Given the description of an element on the screen output the (x, y) to click on. 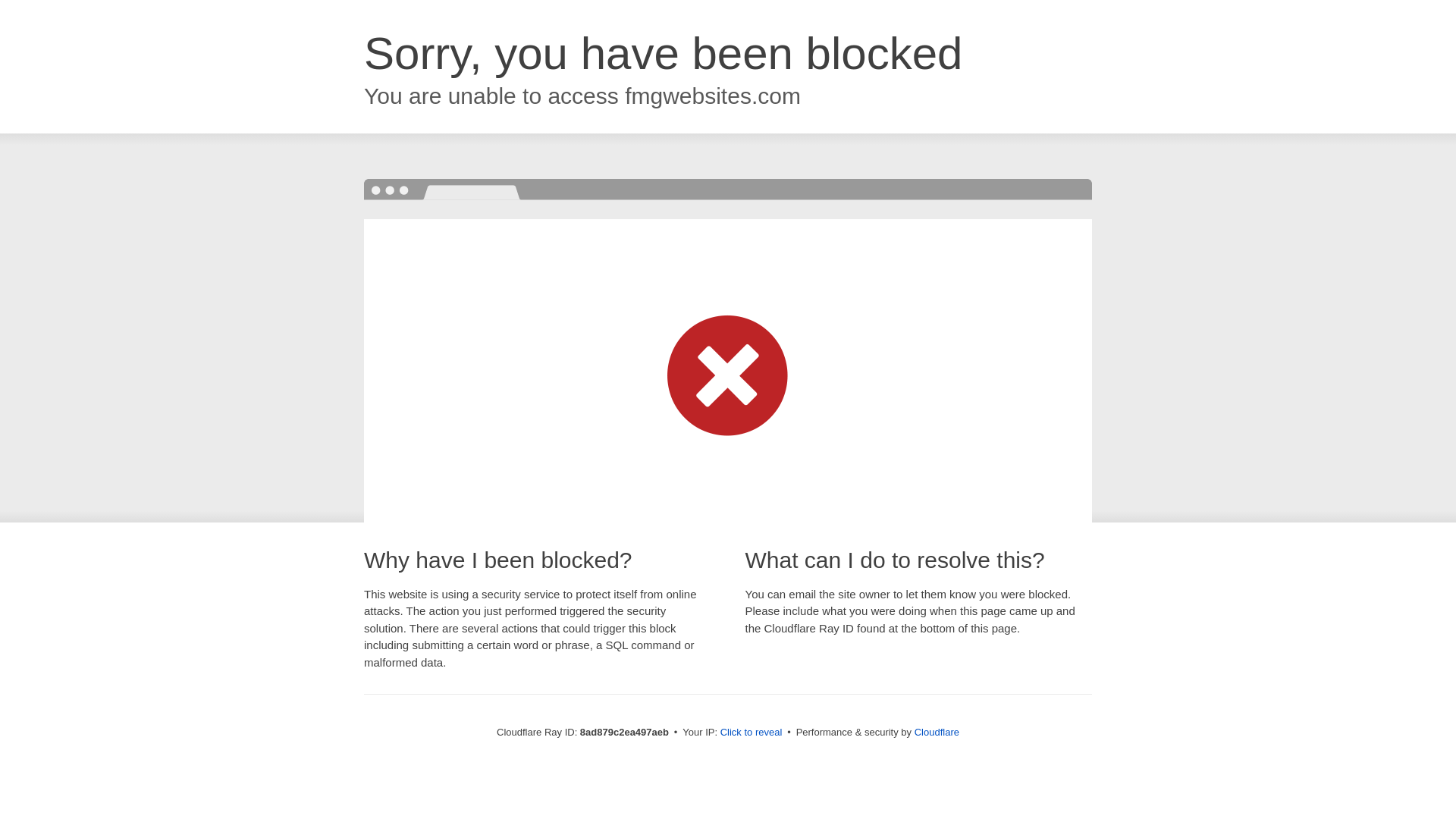
Cloudflare (936, 731)
Click to reveal (751, 732)
